Given the description of an element on the screen output the (x, y) to click on. 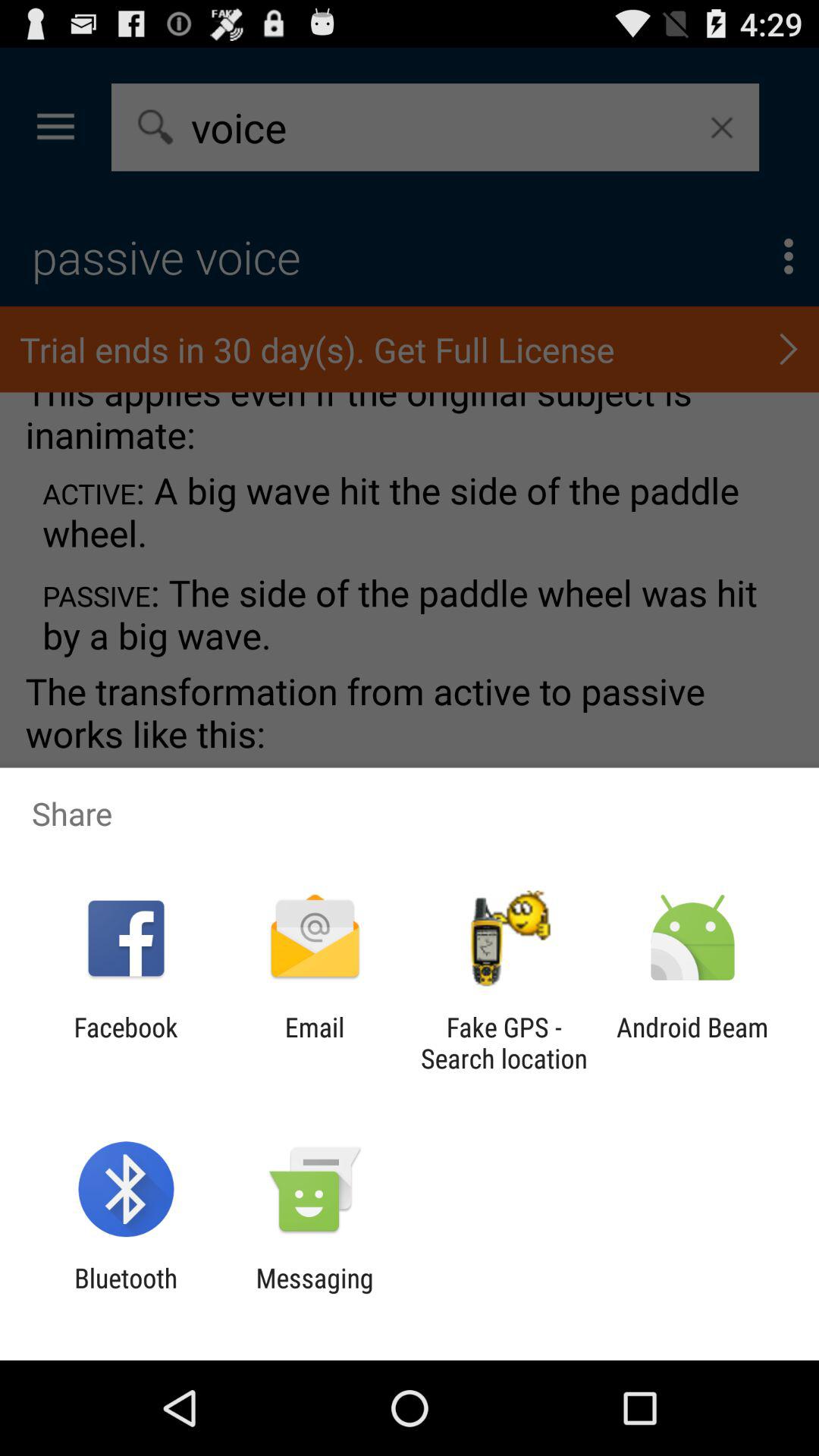
swipe to the android beam icon (692, 1042)
